Given the description of an element on the screen output the (x, y) to click on. 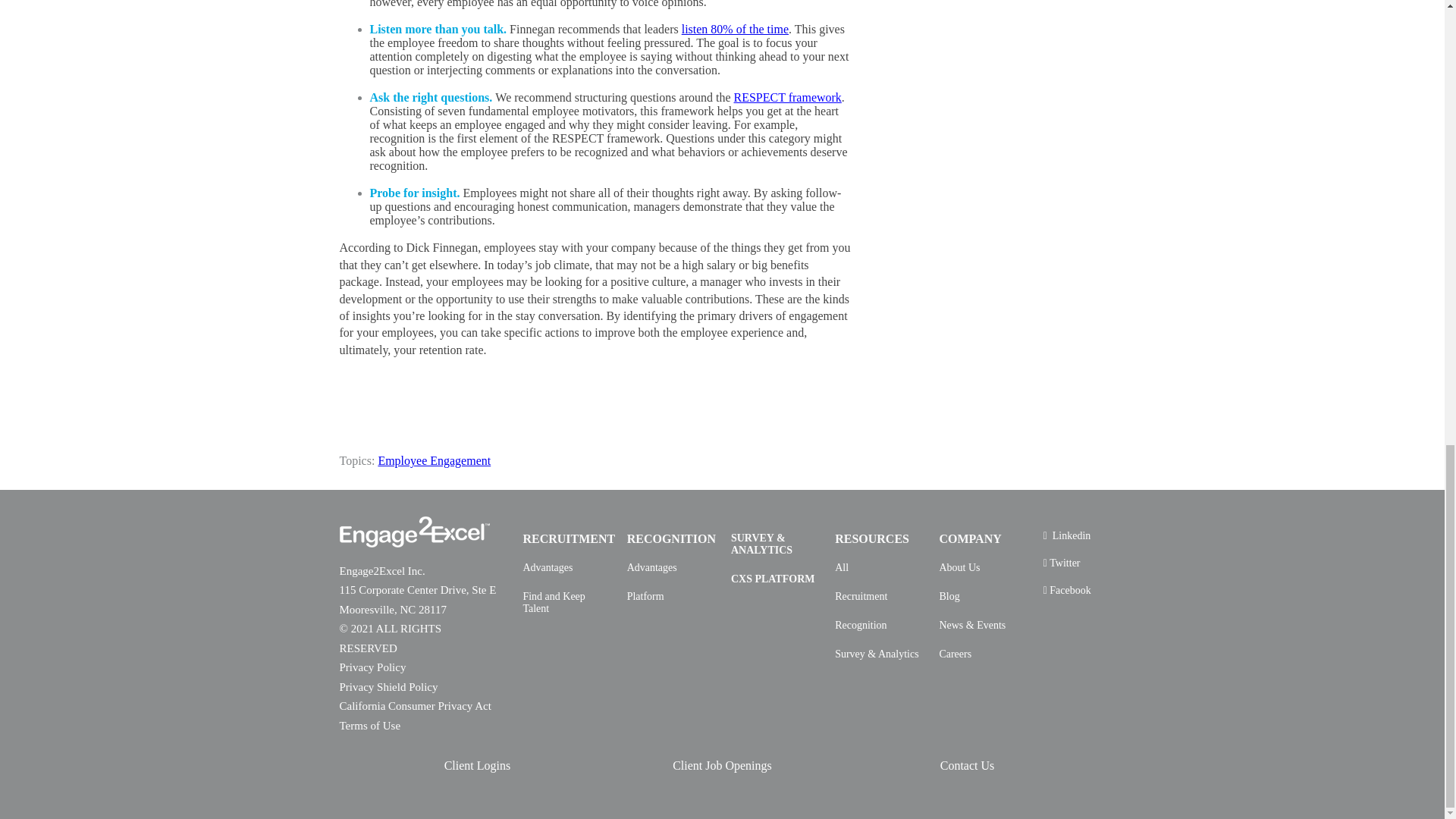
engage-logo-footer-new.png (414, 531)
Terms of Use (370, 725)
RESPECT framework (787, 97)
Platform (645, 596)
Privacy Shield Policy (388, 686)
Find and Keep Talent (566, 602)
Advantages (547, 567)
California Consumer Privacy Act (415, 705)
Privacy Policy (372, 666)
Employee Engagement (433, 460)
